Given the description of an element on the screen output the (x, y) to click on. 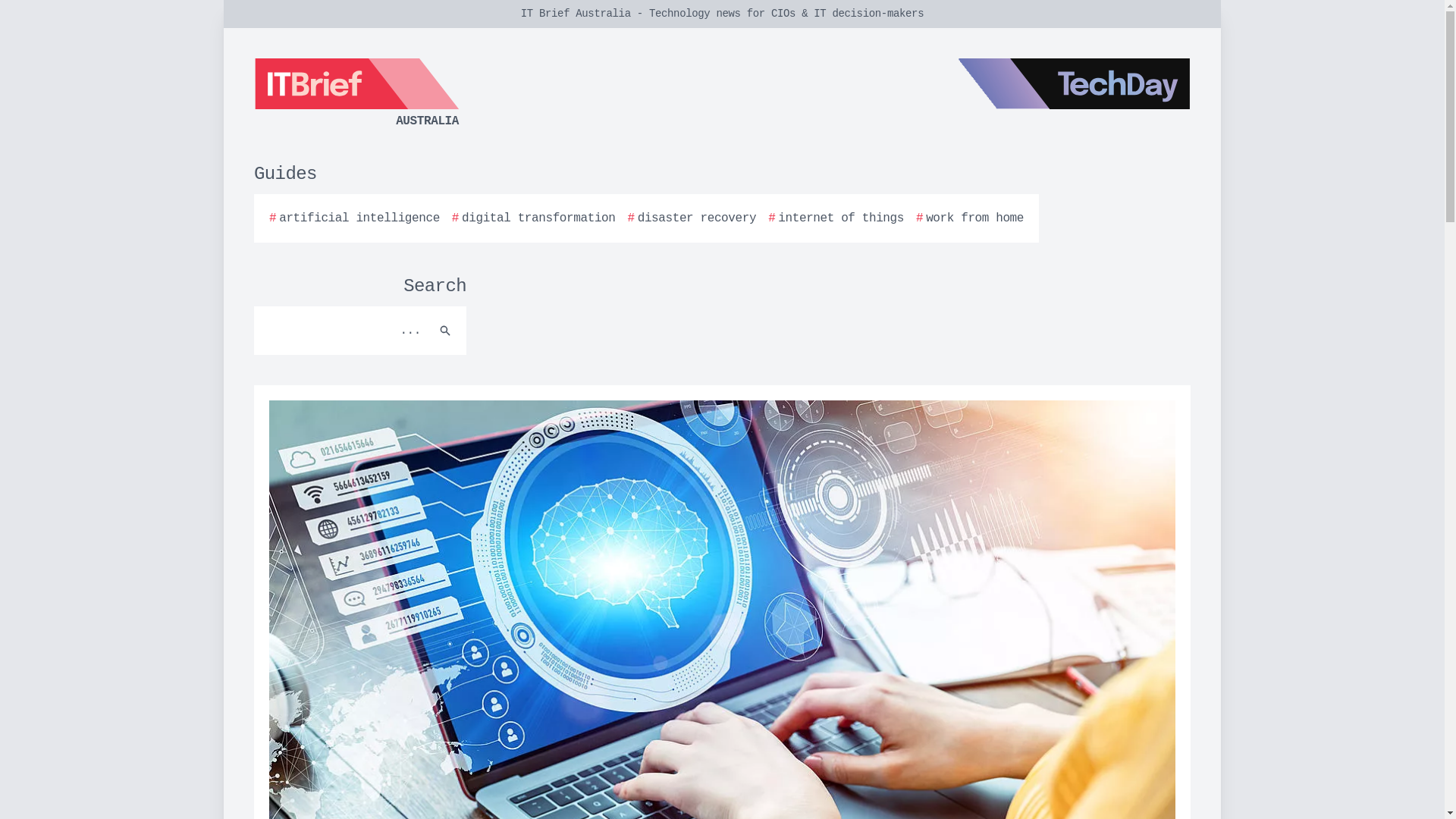
#
disaster recovery Element type: text (691, 218)
AUSTRALIA Element type: text (435, 94)
#
digital transformation Element type: text (533, 218)
#
artificial intelligence Element type: text (354, 218)
#
work from home Element type: text (969, 218)
#
internet of things Element type: text (835, 218)
